Given the description of an element on the screen output the (x, y) to click on. 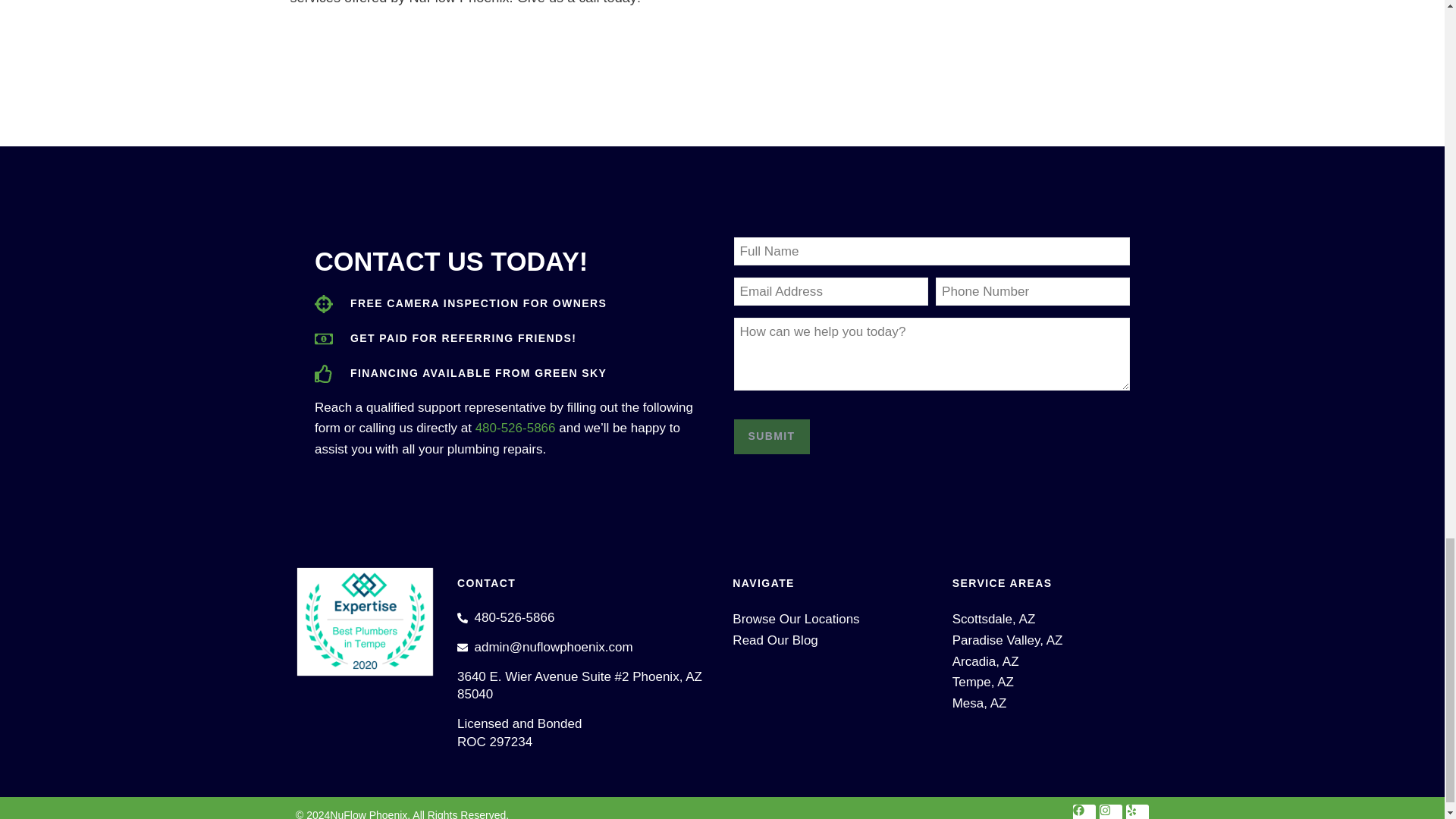
Submit (771, 436)
